Given the description of an element on the screen output the (x, y) to click on. 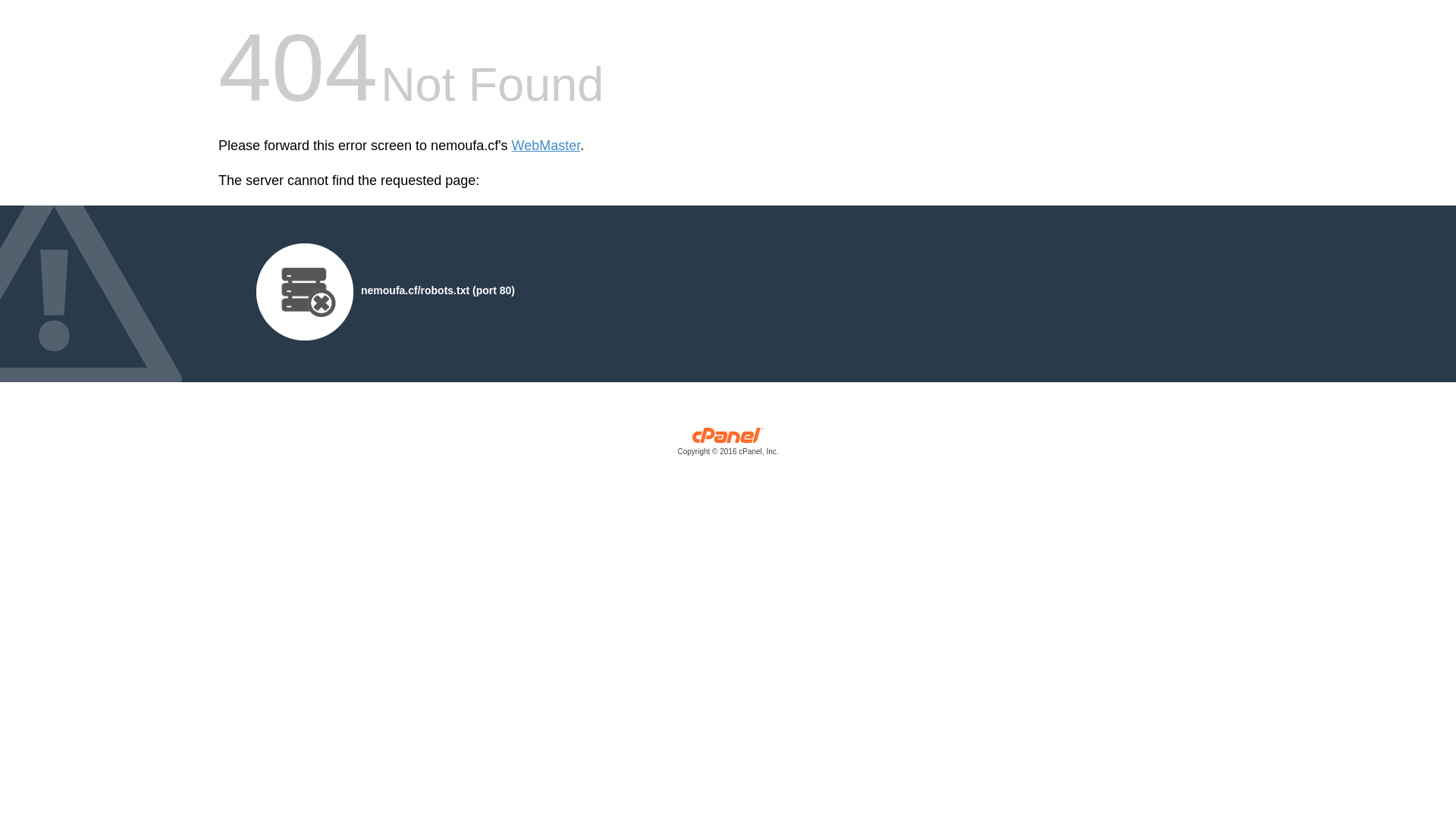
WebMaster Element type: text (545, 145)
